Given the description of an element on the screen output the (x, y) to click on. 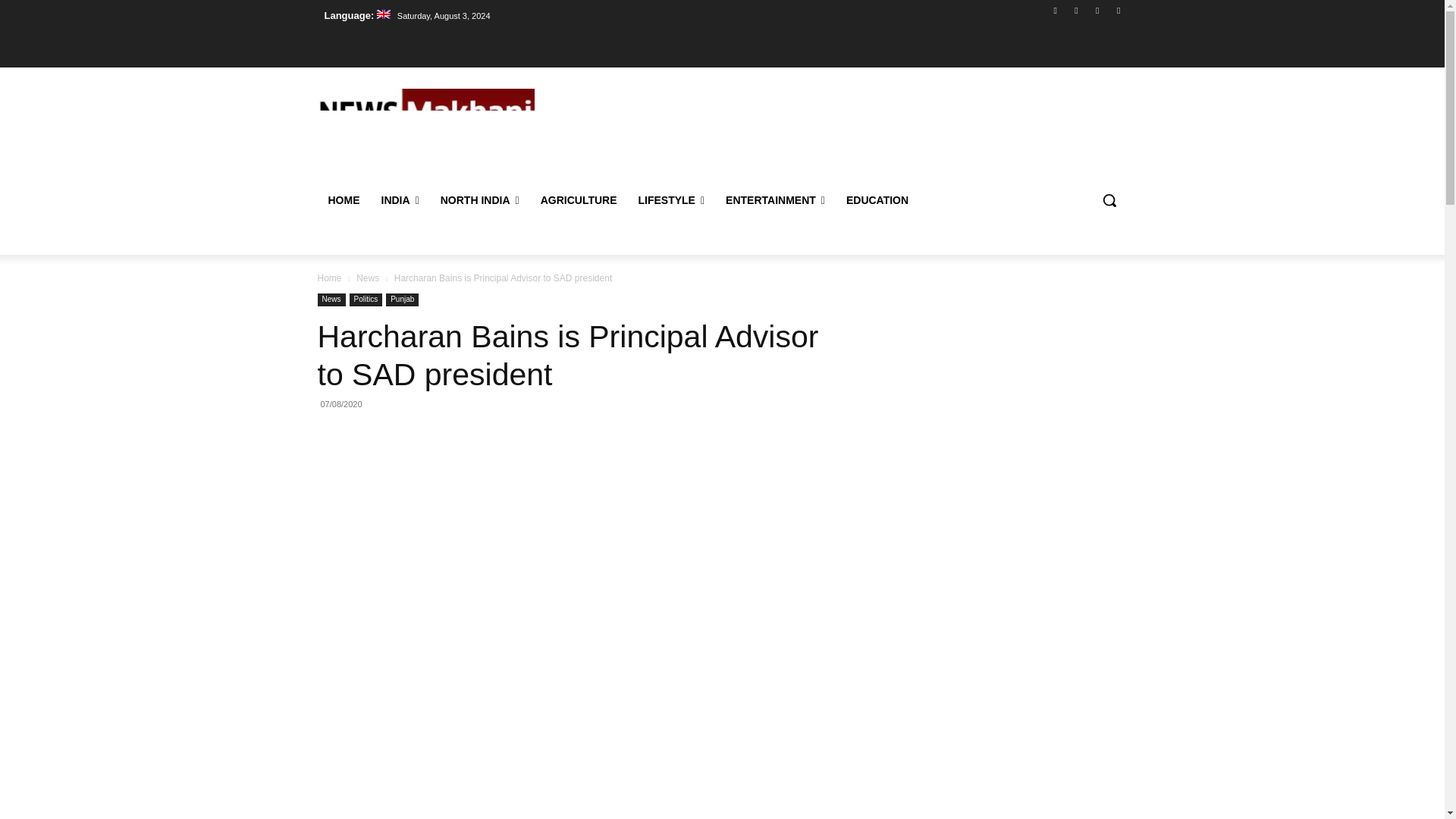
English (356, 15)
Facebook (1055, 9)
Youtube (1117, 9)
Twitter (1097, 9)
Instagram (1075, 9)
